Given the description of an element on the screen output the (x, y) to click on. 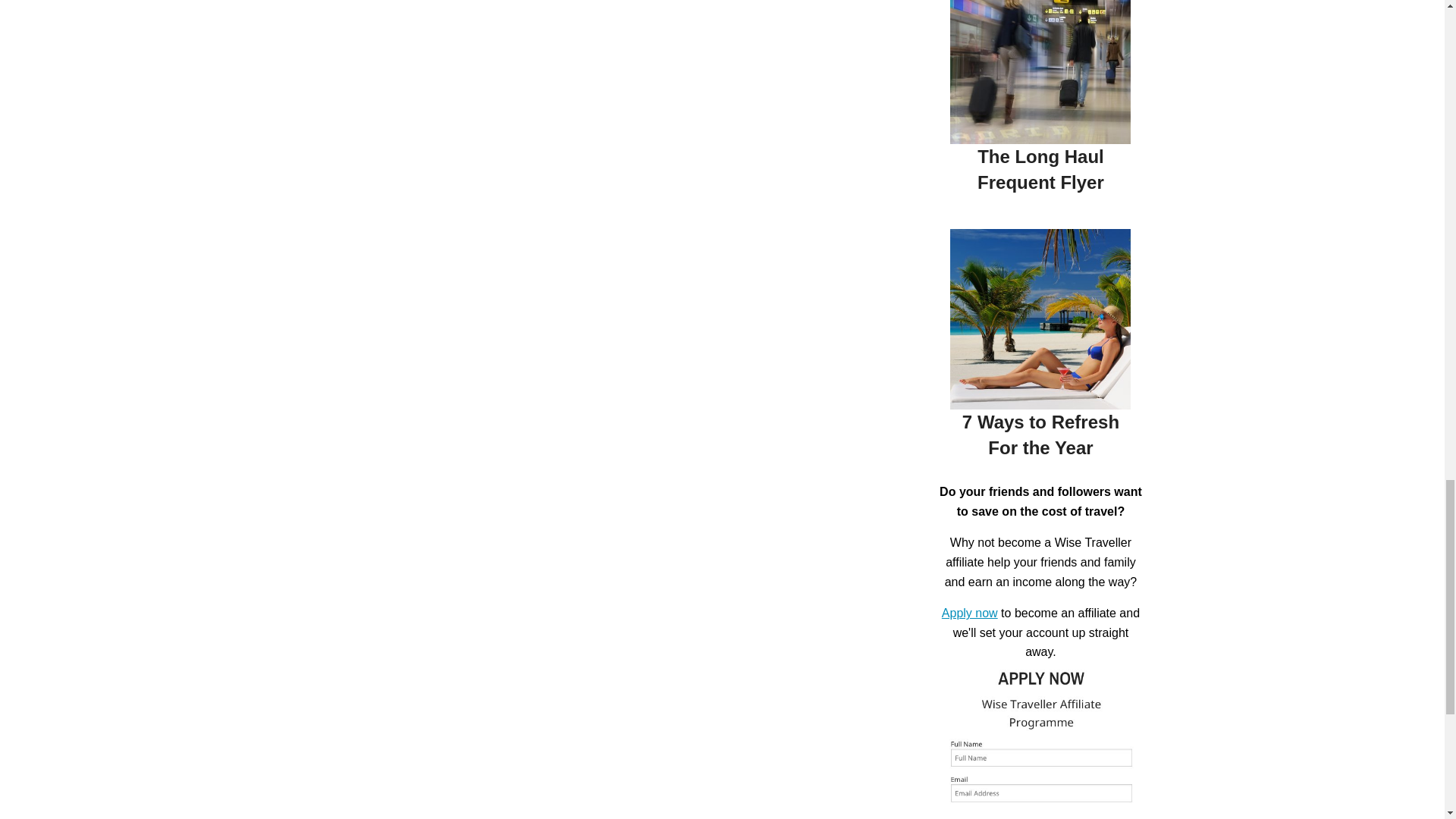
The Long Haul Frequent Flyer (1039, 169)
